Given the description of an element on the screen output the (x, y) to click on. 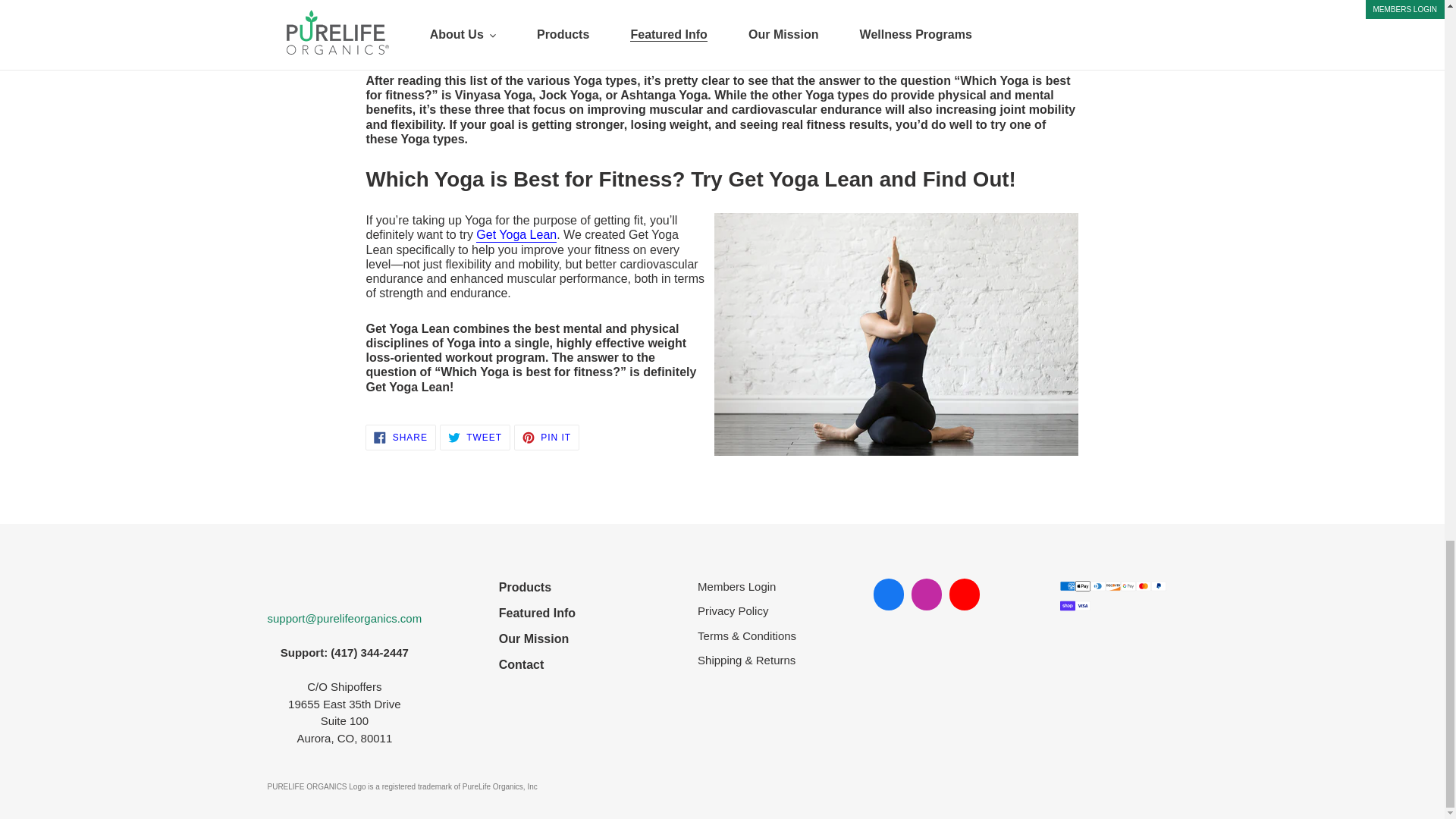
Products (475, 421)
Members Login (537, 571)
Our Mission (746, 570)
Get Yoga Lean (537, 623)
Contact (400, 421)
Privacy Policy (516, 219)
Featured Info (537, 648)
